Given the description of an element on the screen output the (x, y) to click on. 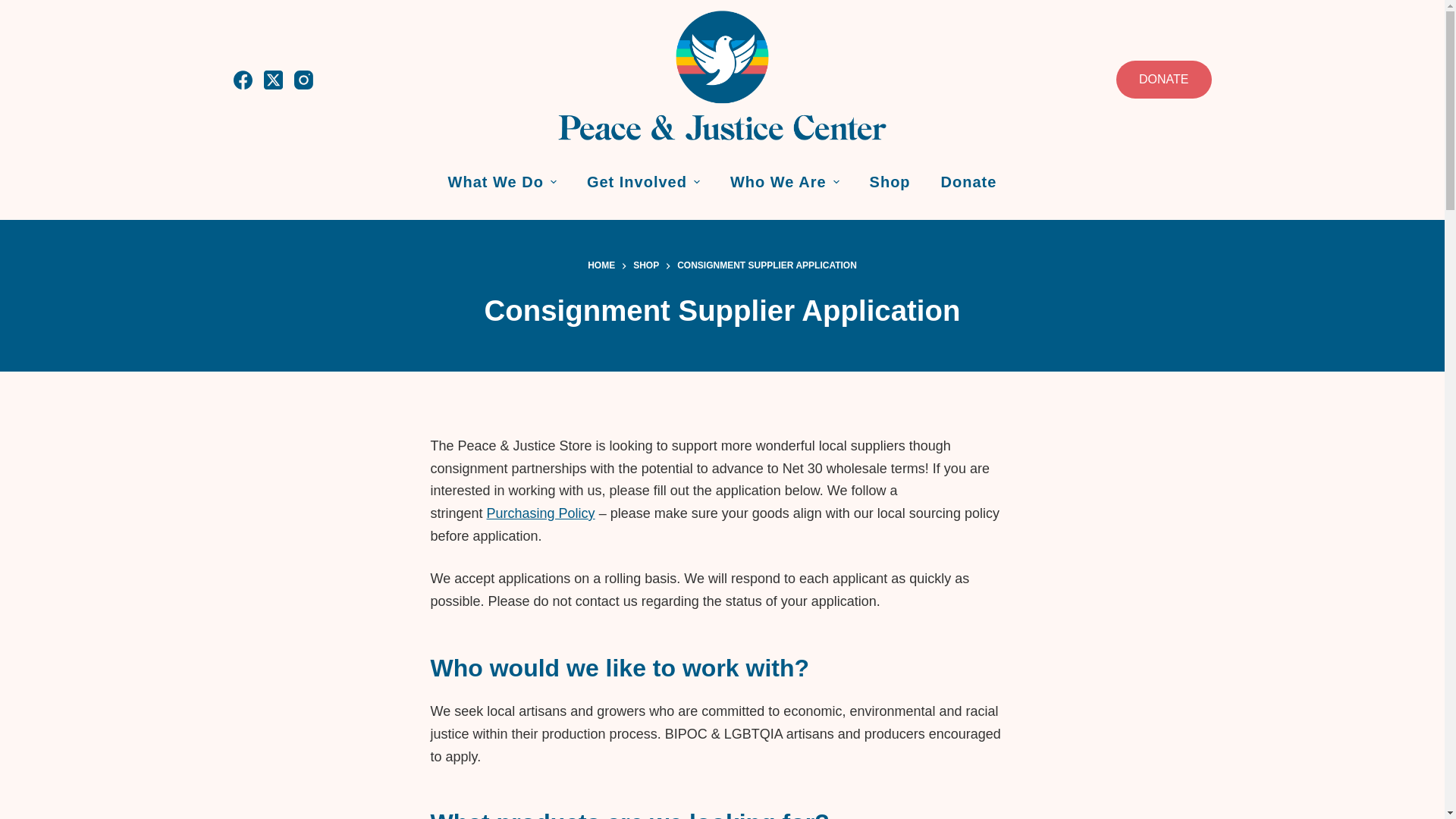
Get Involved (643, 181)
Who We Are (784, 181)
DONATE (1163, 79)
Skip to content (15, 7)
What We Do (502, 181)
Consignment Supplier Application (722, 310)
